Given the description of an element on the screen output the (x, y) to click on. 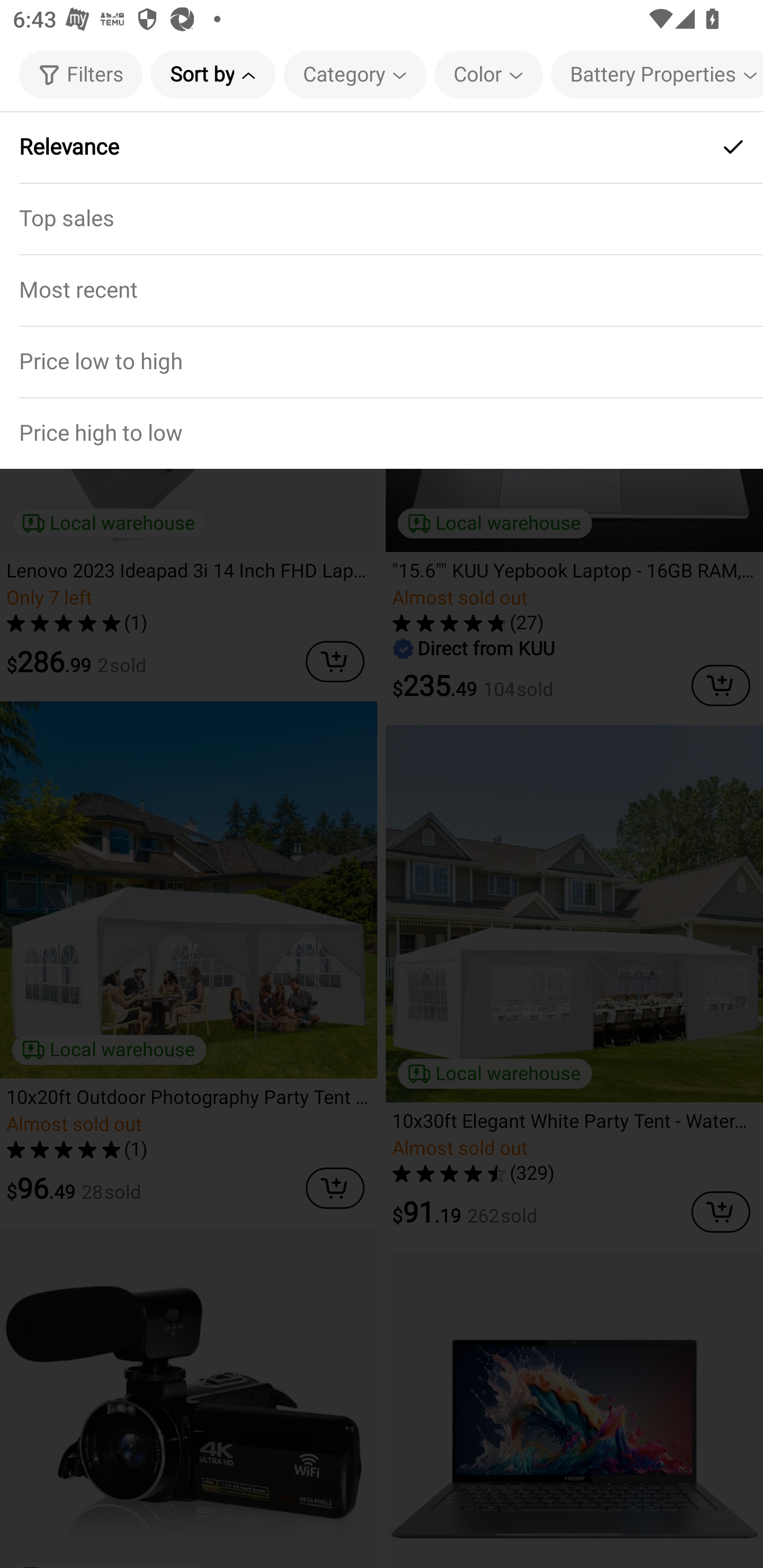
Filters (80, 74)
Sort by (212, 74)
Category (354, 74)
Color (488, 74)
Battery Properties (656, 74)
Relevance (381, 147)
Top sales (381, 218)
Most recent (381, 290)
Price low to high (381, 361)
Price high to low (381, 432)
